Given the description of an element on the screen output the (x, y) to click on. 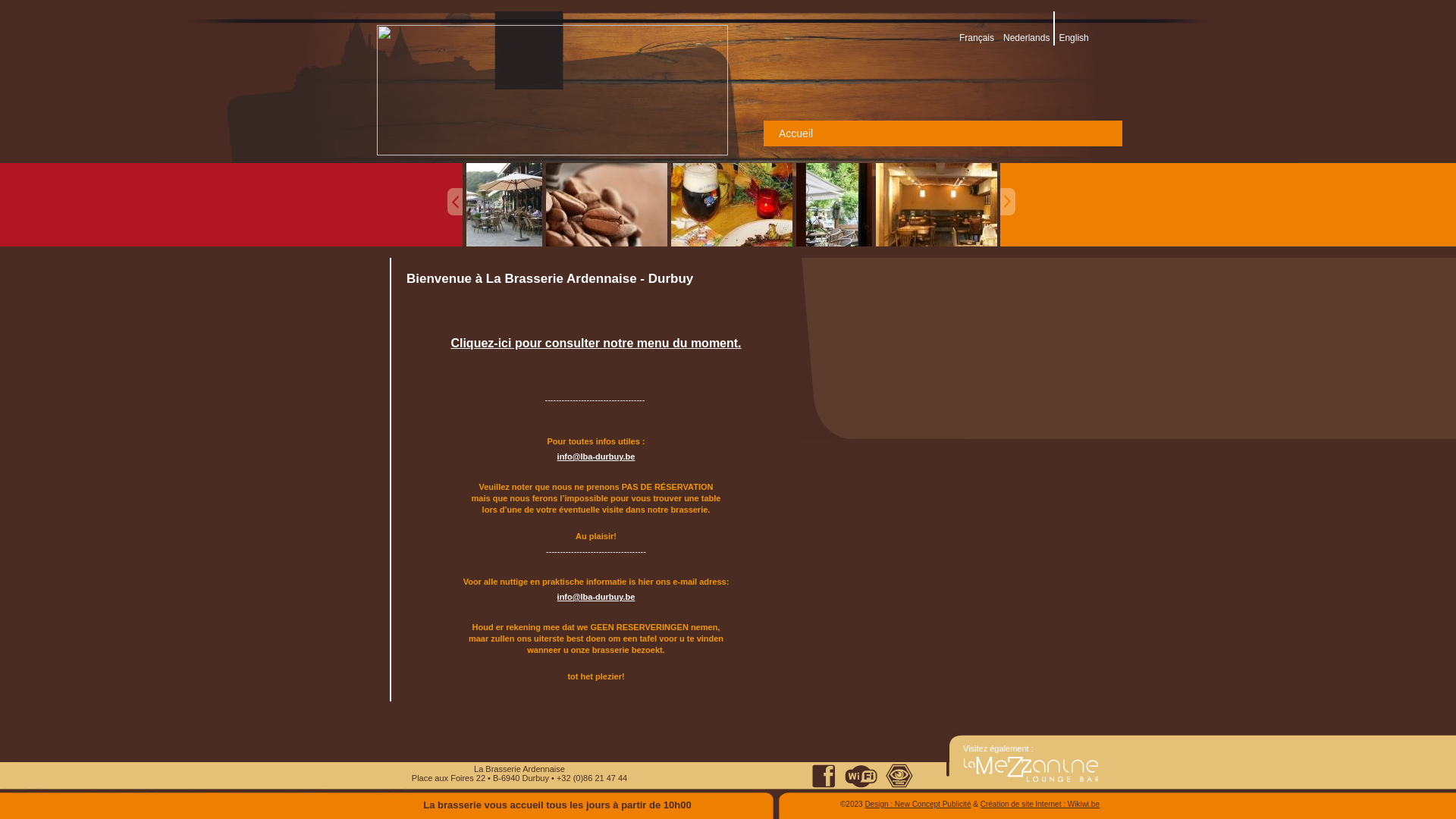
Nederlands Element type: text (1026, 37)
Next Element type: text (1006, 200)
Cliquez-ici pour consulter notre menu du moment. Element type: text (595, 342)
info@lba-durbuy.be Element type: text (596, 456)
Previous Element type: text (454, 200)
English Element type: text (1073, 37)
info@lba-durbuy.be Element type: text (596, 596)
Accueil Element type: text (795, 133)
